Given the description of an element on the screen output the (x, y) to click on. 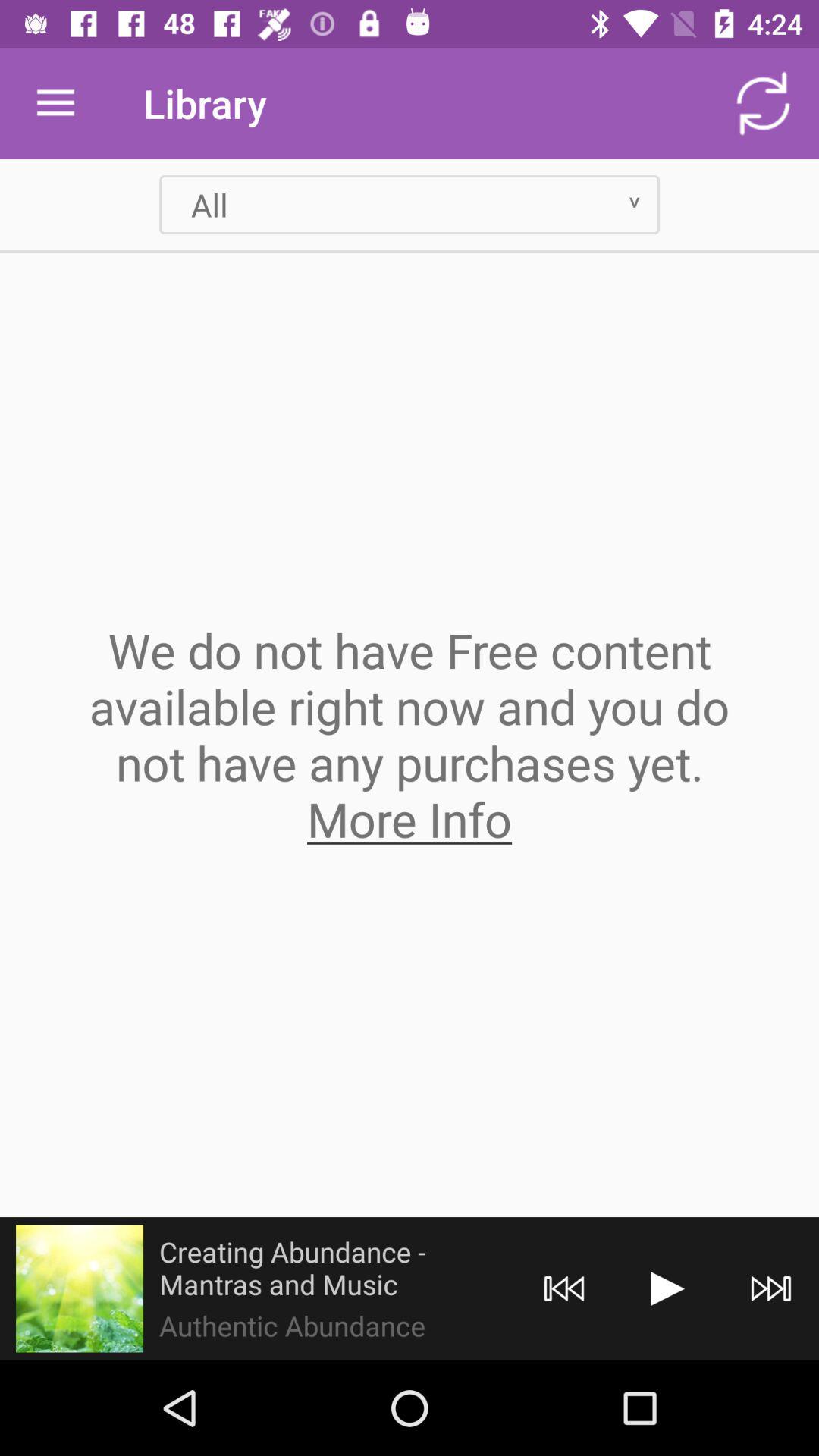
fast forward audio (771, 1288)
